Given the description of an element on the screen output the (x, y) to click on. 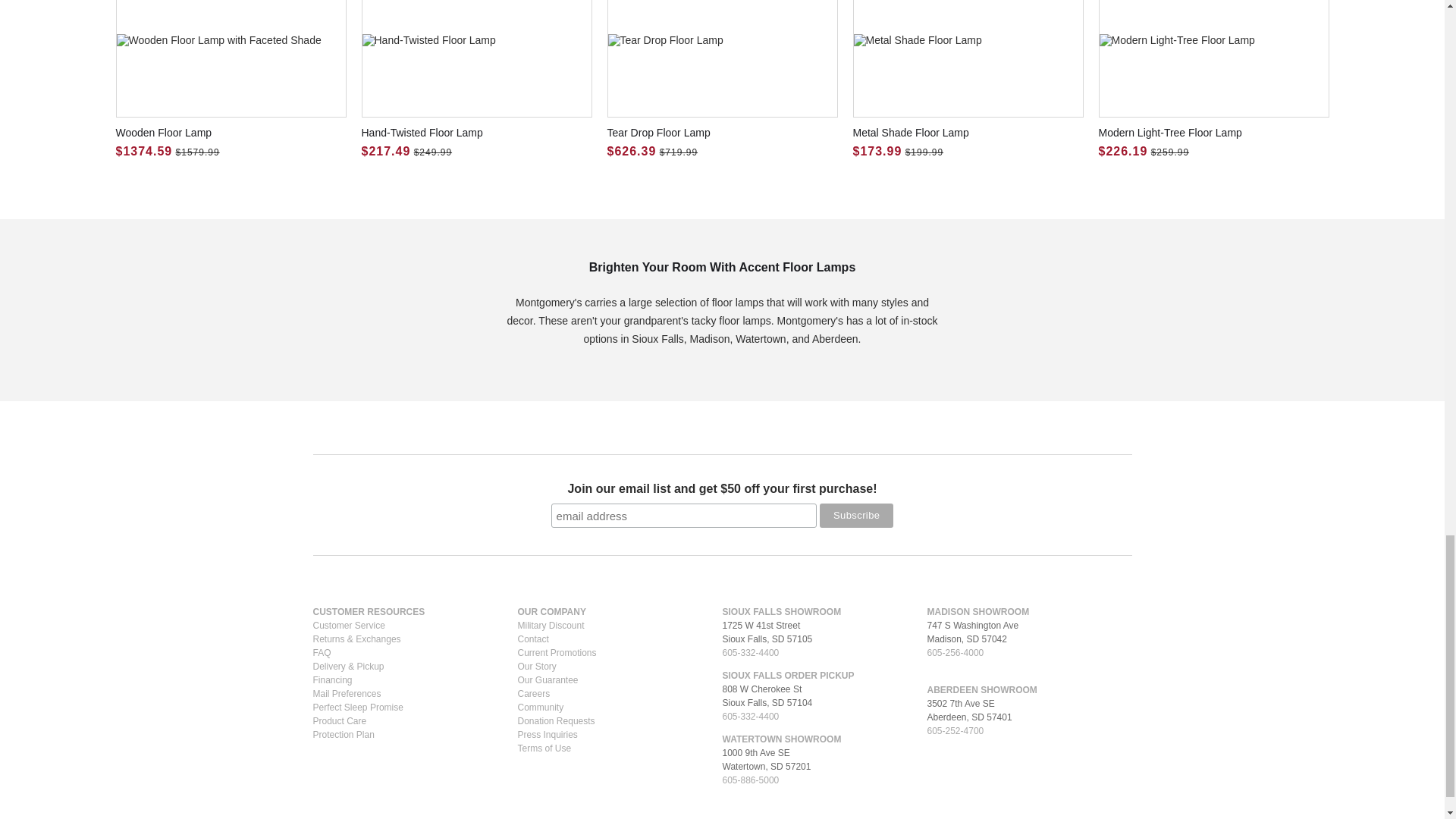
Subscribe (856, 515)
